Given the description of an element on the screen output the (x, y) to click on. 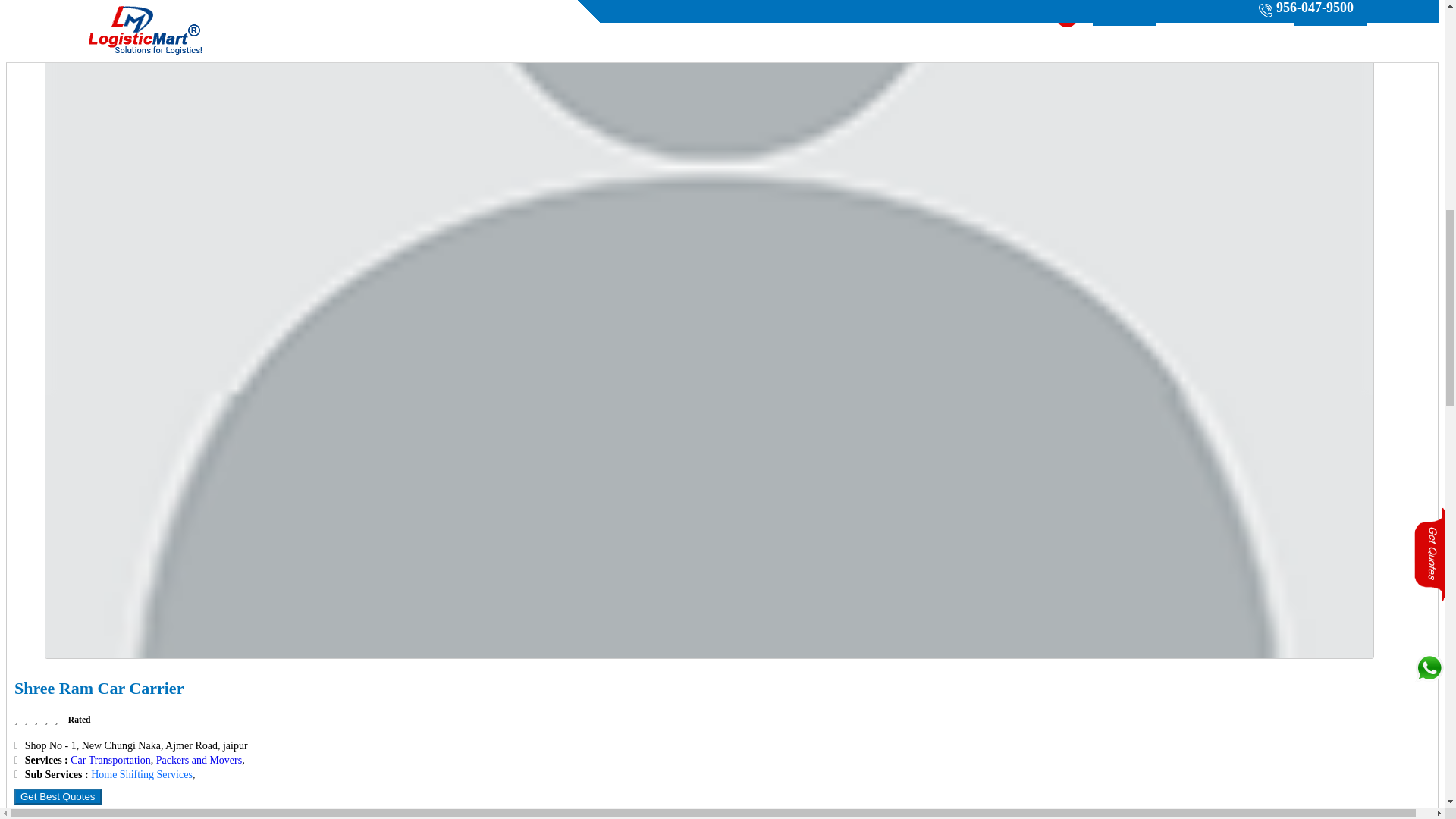
Packers and Movers (199, 759)
Home Shifting Services (141, 774)
Car Transportation (109, 759)
Get Best Quotes (57, 796)
